Given the description of an element on the screen output the (x, y) to click on. 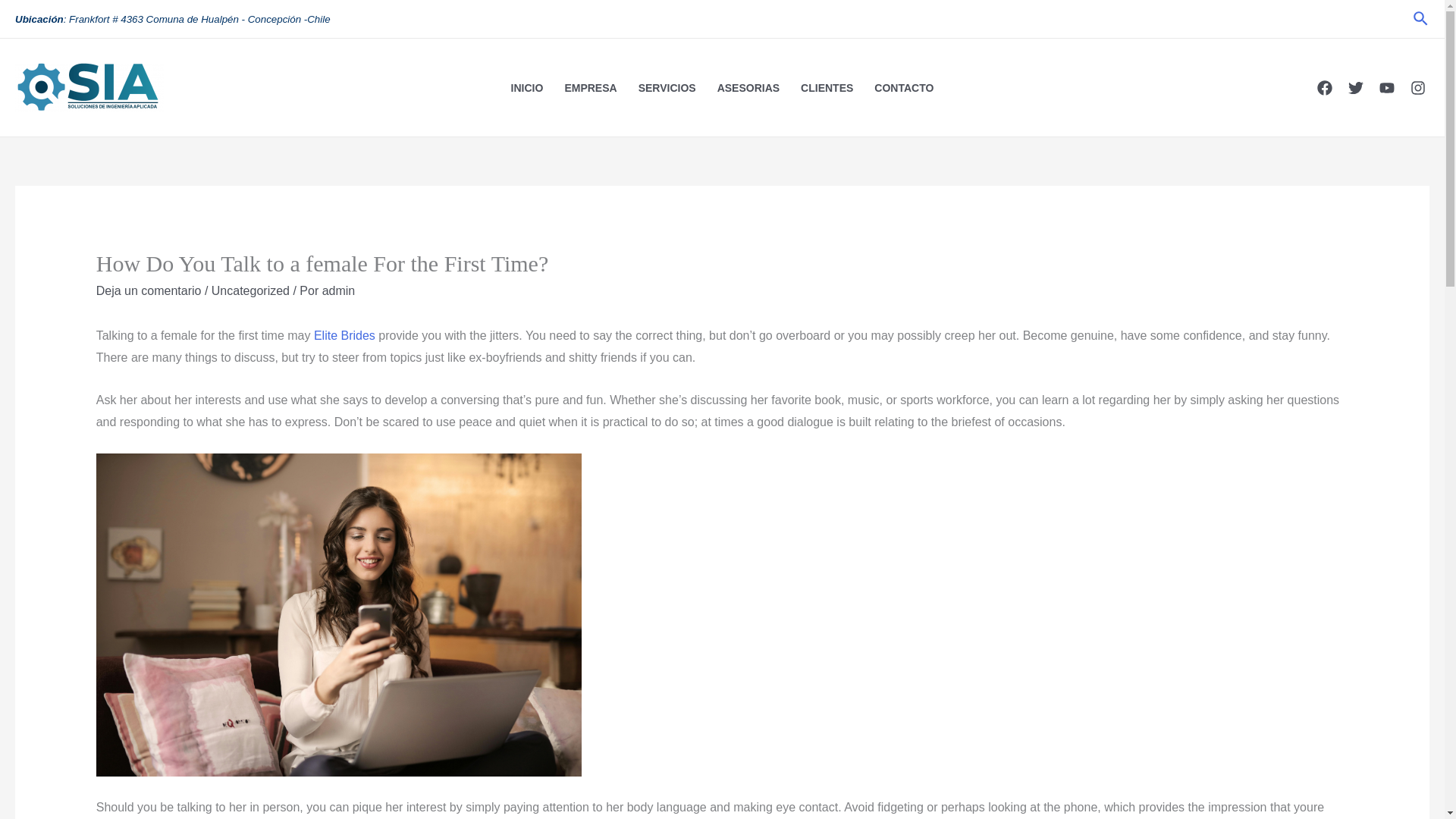
Ver todas las entradas de admin (338, 290)
CLIENTES (826, 86)
Uncategorized (250, 290)
INICIO (527, 86)
Buscar (1421, 19)
admin (338, 290)
SERVICIOS (666, 86)
ASESORIAS (748, 86)
Elite Brides (344, 335)
Deja un comentario (149, 290)
CONTACTO (903, 86)
EMPRESA (590, 86)
